Given the description of an element on the screen output the (x, y) to click on. 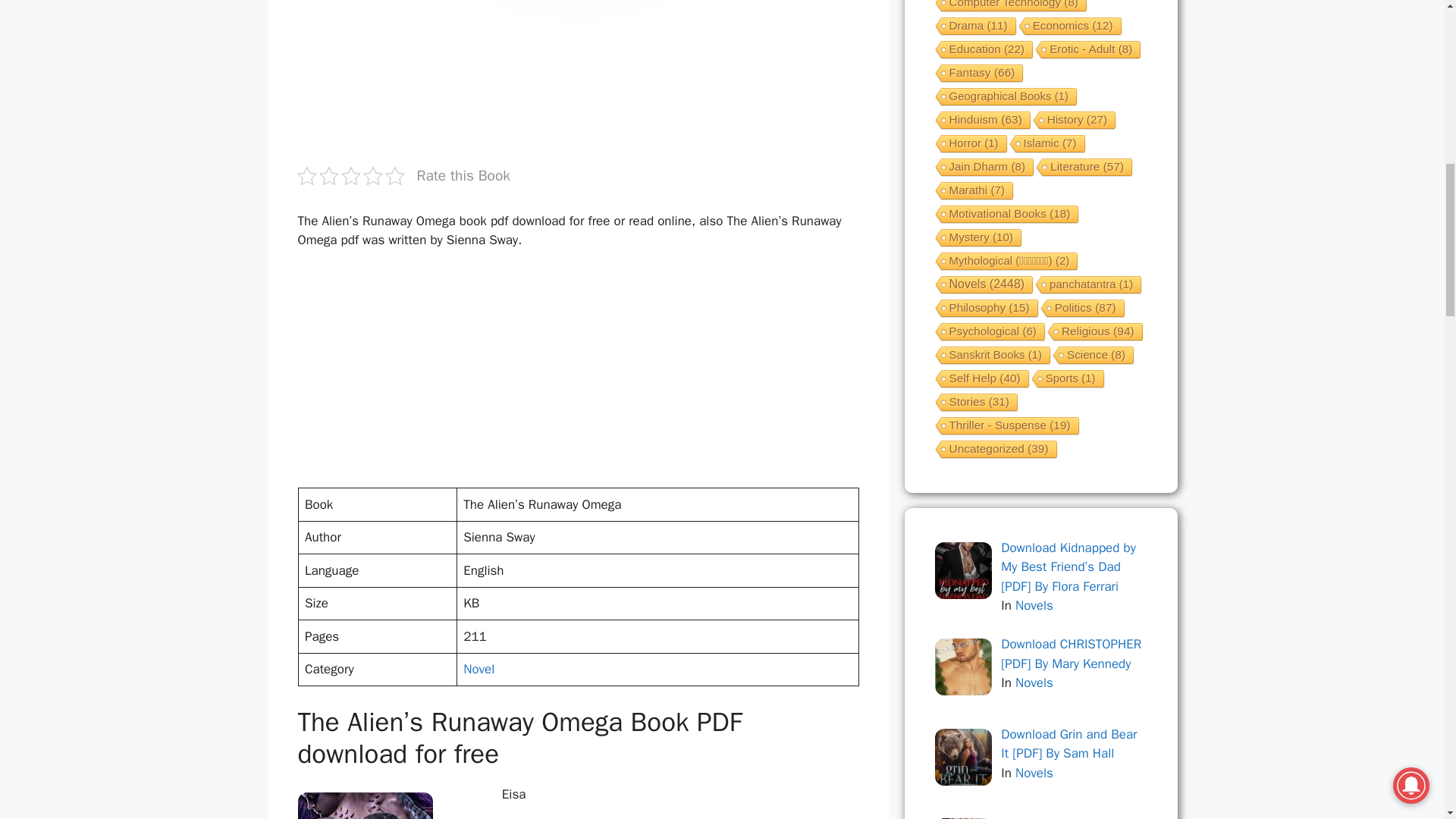
Advertisement (572, 375)
Scroll back to top (1406, 720)
Advertisement (572, 79)
